Given the description of an element on the screen output the (x, y) to click on. 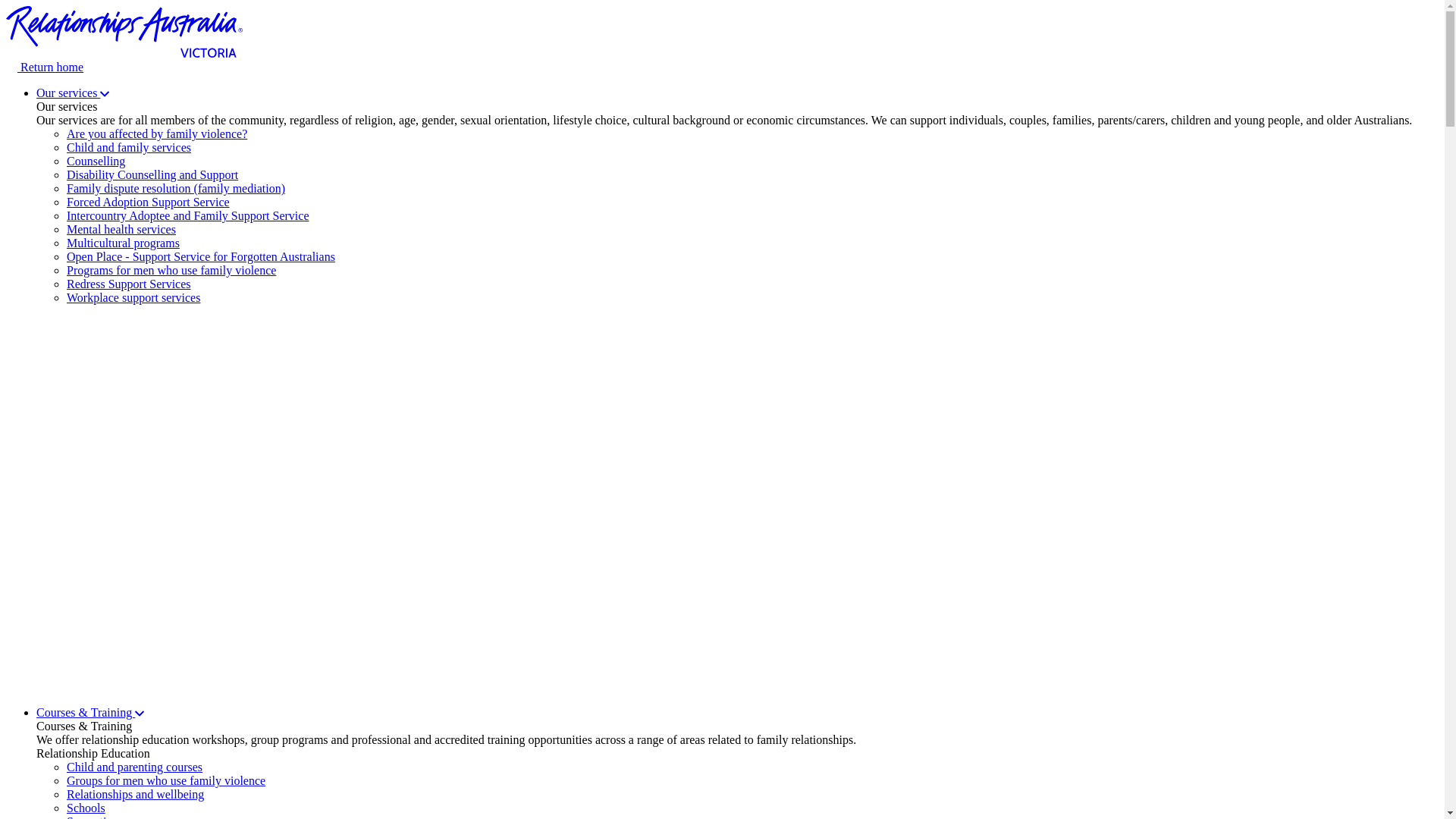
Child and family services Element type: text (128, 147)
Are you affected by family violence? Element type: text (156, 133)
Programs for men who use family violence Element type: text (171, 269)
Child and parenting courses Element type: text (134, 766)
Workplace support services Element type: text (133, 297)
Return home Element type: text (722, 60)
Intercountry Adoptee and Family Support Service Element type: text (187, 215)
Counselling Element type: text (95, 160)
Groups for men who use family violence Element type: text (165, 780)
Schools Element type: text (85, 807)
Our services Element type: text (72, 92)
Multicultural programs Element type: text (122, 242)
Redress Support Services Element type: text (128, 283)
Forced Adoption Support Service Element type: text (147, 201)
Mental health services Element type: text (120, 228)
Family dispute resolution (family mediation) Element type: text (175, 188)
Courses & Training Element type: text (90, 712)
Open Place - Support Service for Forgotten Australians Element type: text (200, 256)
Relationships and wellbeing Element type: text (134, 793)
Disability Counselling and Support Element type: text (152, 174)
